Given the description of an element on the screen output the (x, y) to click on. 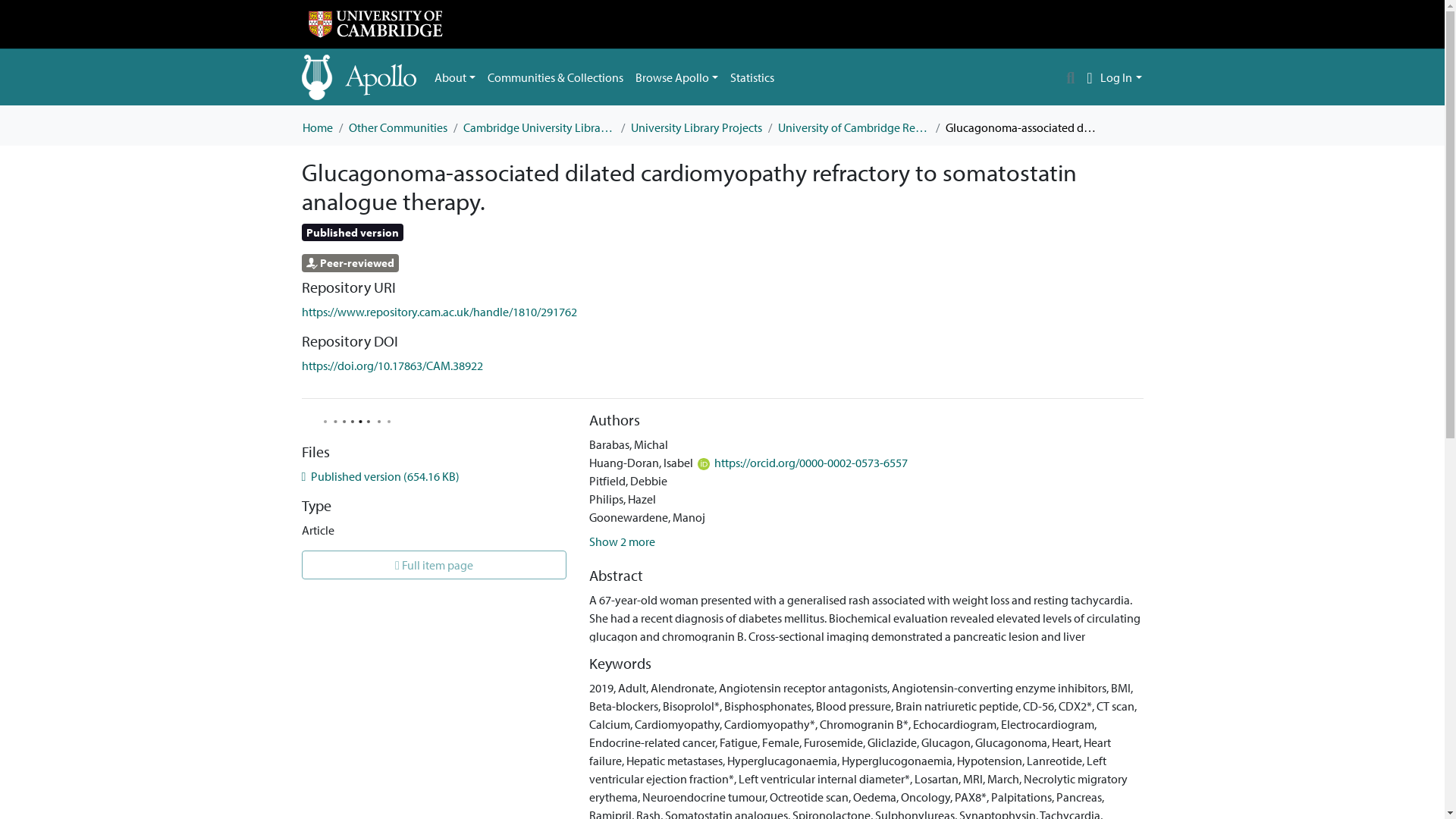
Statistics (751, 77)
Search (1070, 76)
Statistics (751, 77)
Home (316, 126)
Language switch (1089, 76)
Other Communities (397, 126)
Cambridge University Libraries (538, 126)
University Library Projects (695, 126)
Browse Apollo (675, 77)
Show 2 more (622, 540)
Full item page (434, 564)
About (454, 77)
Log In (1120, 77)
